Given the description of an element on the screen output the (x, y) to click on. 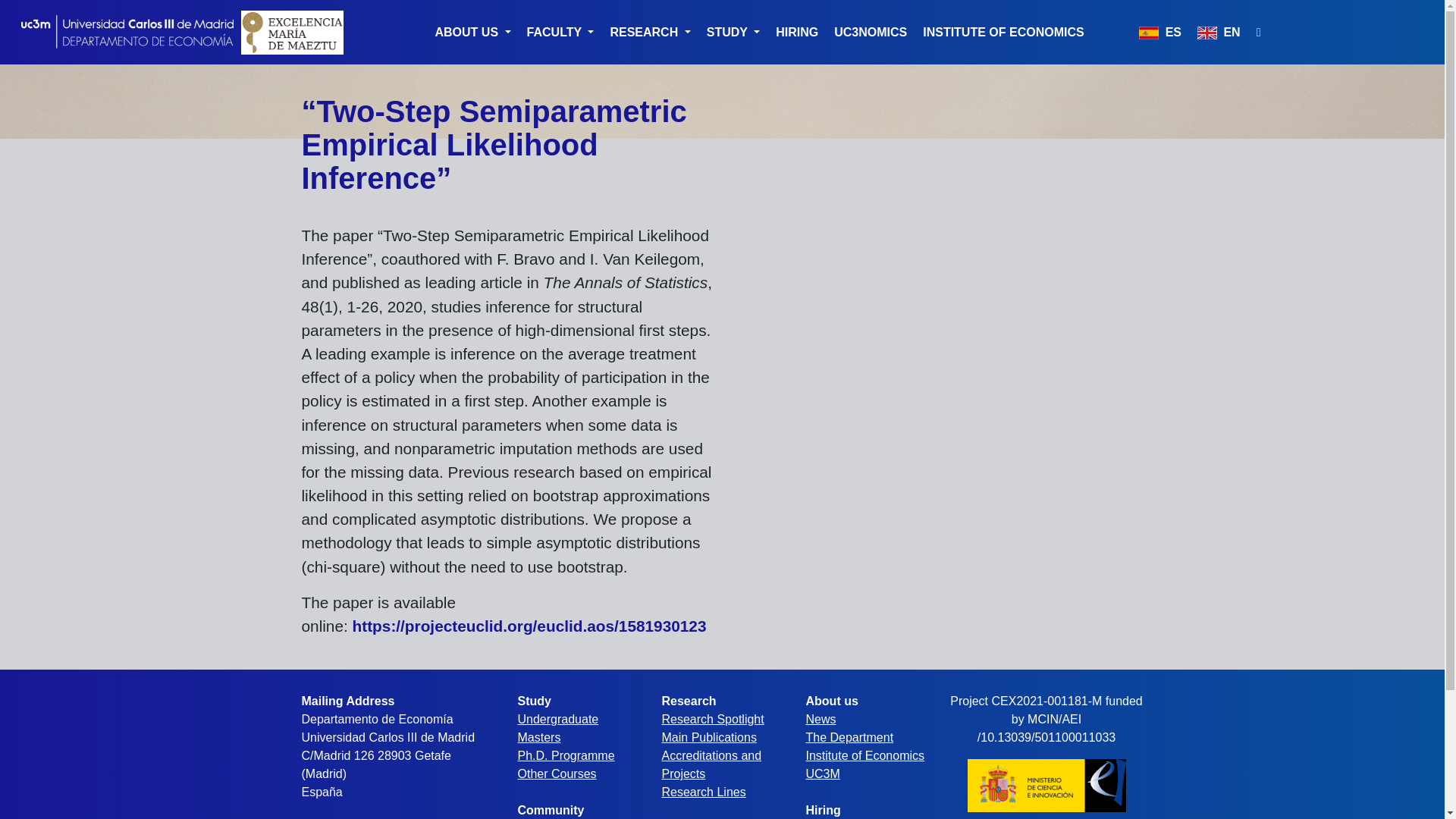
EN (1218, 32)
UC3NOMICS (870, 32)
RESEARCH (649, 32)
INSTITUTE OF ECONOMICS (1003, 32)
ES (1160, 32)
FACULTY (560, 32)
STUDY (732, 32)
ABOUT US (472, 32)
HIRING (797, 32)
